Given the description of an element on the screen output the (x, y) to click on. 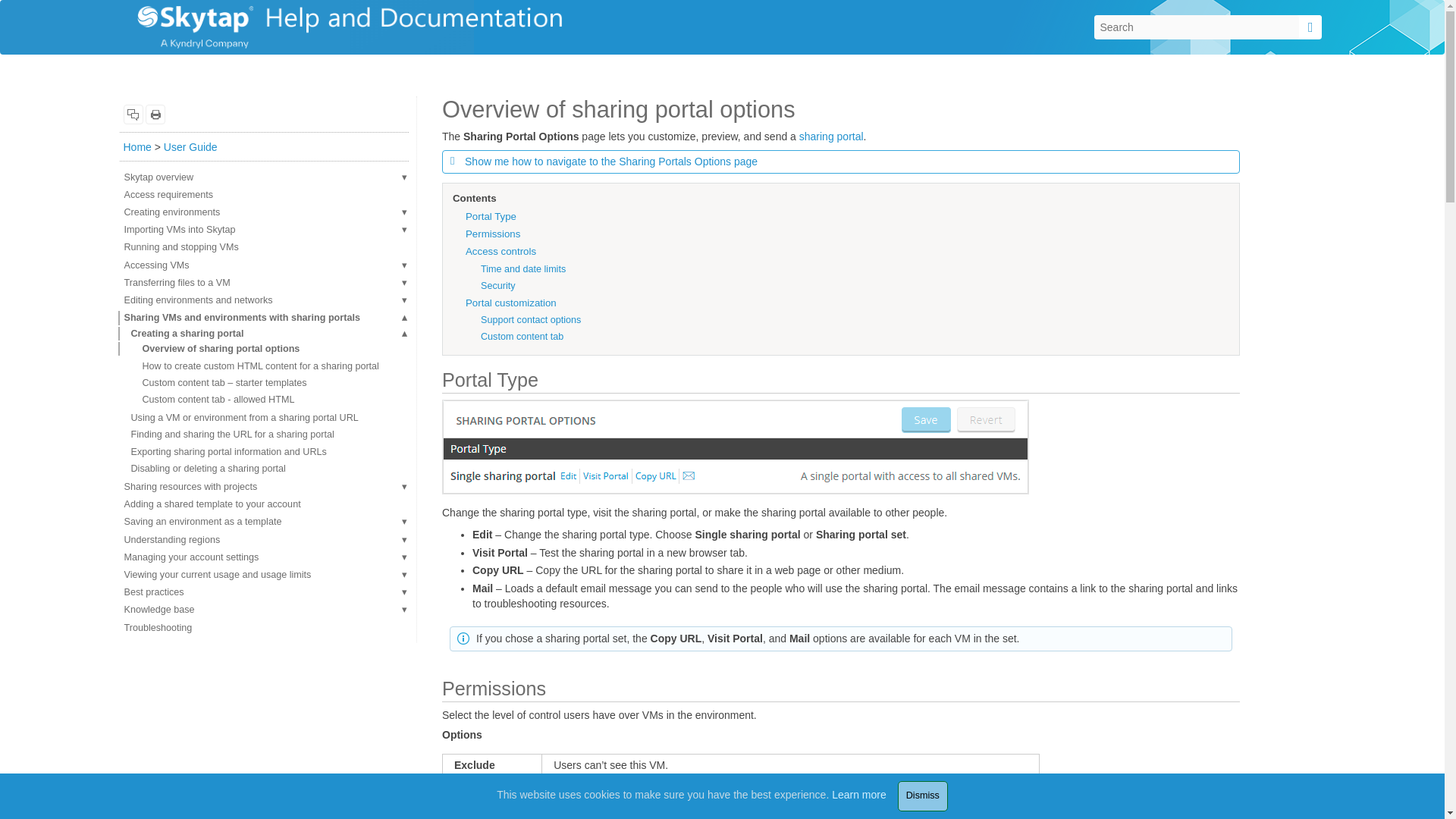
Access requirements (264, 195)
Print this page (155, 114)
Creating environments (264, 212)
Running and stopping VMs (264, 247)
Importing VMs into Skytap (264, 229)
Leave feedback (132, 114)
User Guide (189, 146)
Skytap overview (264, 177)
Accessing VMs (264, 265)
Home (136, 146)
